Given the description of an element on the screen output the (x, y) to click on. 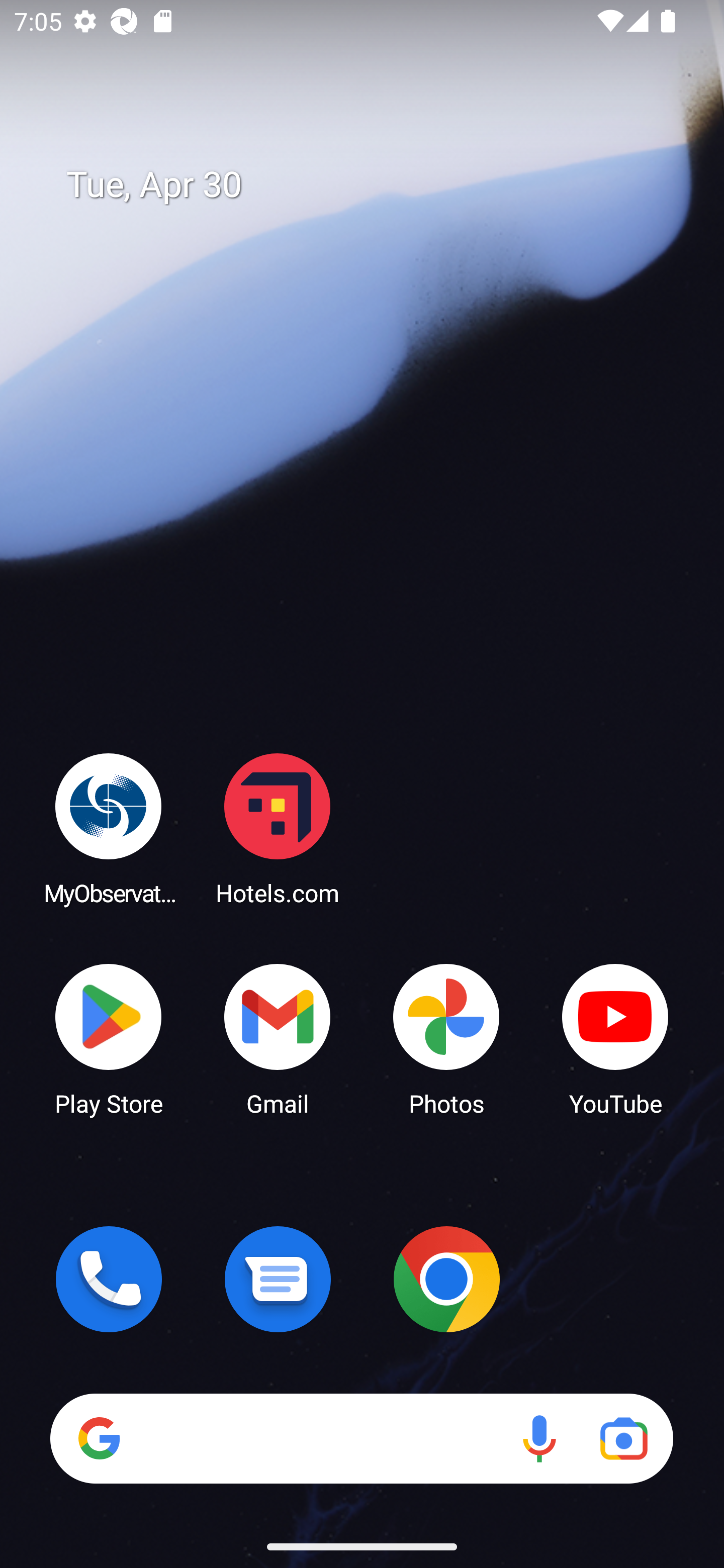
Tue, Apr 30 (375, 184)
MyObservatory (108, 828)
Hotels.com (277, 828)
Play Store (108, 1038)
Gmail (277, 1038)
Photos (445, 1038)
YouTube (615, 1038)
Phone (108, 1279)
Messages (277, 1279)
Chrome (446, 1279)
Voice search (539, 1438)
Google Lens (623, 1438)
